Given the description of an element on the screen output the (x, y) to click on. 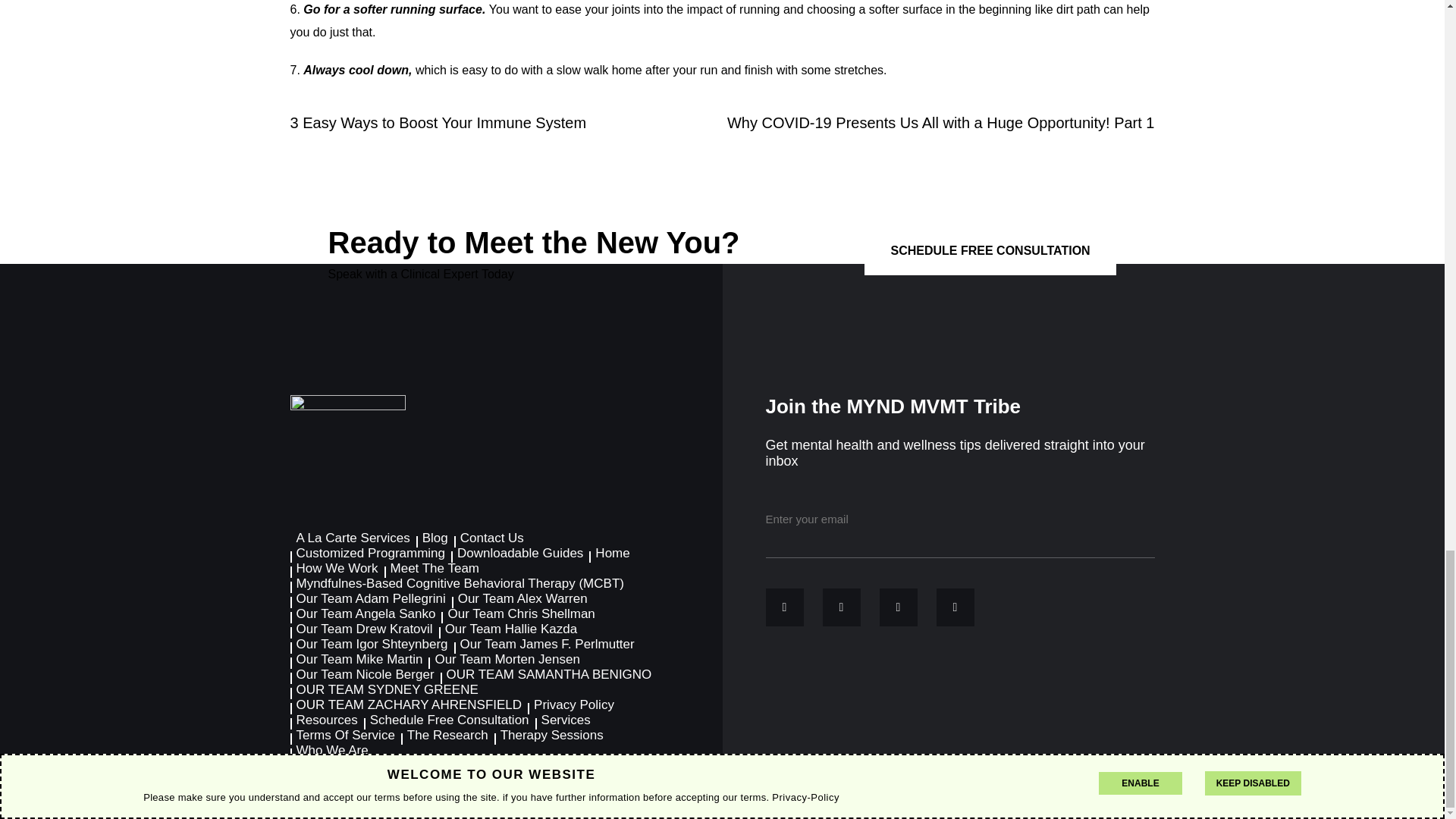
Send (1115, 518)
